Given the description of an element on the screen output the (x, y) to click on. 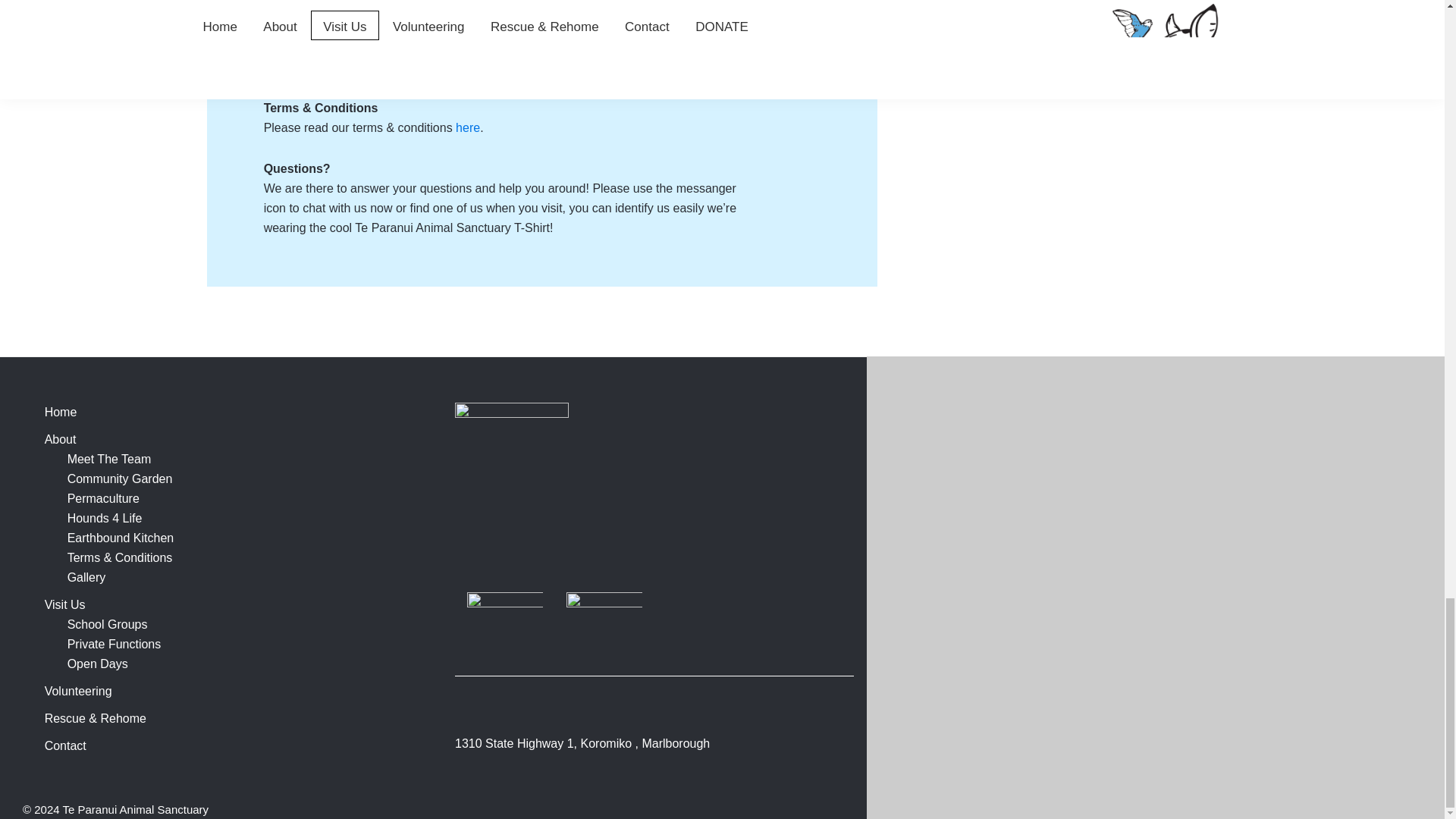
About (61, 439)
Community Garden (119, 478)
Home (61, 411)
Gallery (86, 576)
Hounds 4 Life (104, 517)
Meet The Team (108, 459)
Earthbound Kitchen (120, 537)
Visit Us (65, 604)
Permaculture (102, 498)
here (467, 127)
